Given the description of an element on the screen output the (x, y) to click on. 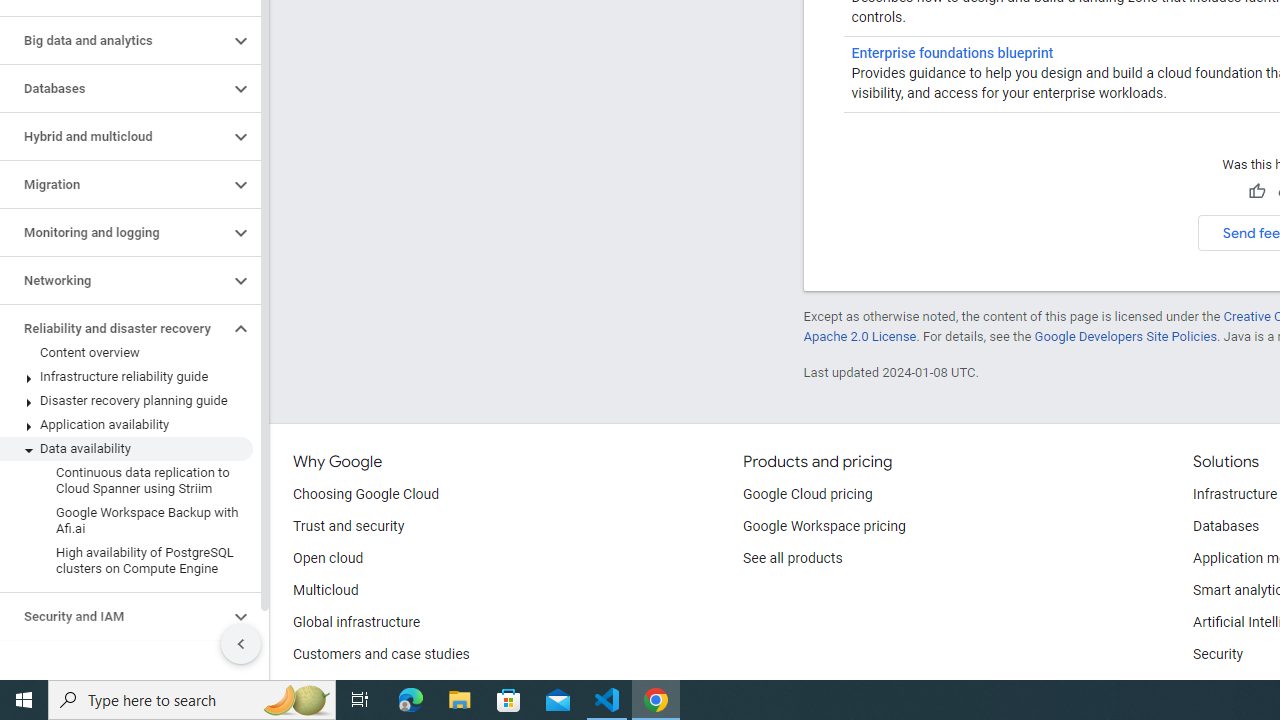
Apache 2.0 License (859, 336)
Google Developers Site Policies (1125, 336)
Enterprise foundations blueprint (952, 52)
Hide side navigation (241, 643)
Google Cloud pricing (807, 494)
Continuous data replication to Cloud Spanner using Striim (126, 480)
See all products (792, 558)
Application availability (126, 425)
Databases (114, 88)
Migration (114, 184)
Google Workspace pricing (824, 526)
Global infrastructure (357, 622)
Security and IAM (114, 616)
Data availability (126, 448)
Monitoring and logging (114, 232)
